Given the description of an element on the screen output the (x, y) to click on. 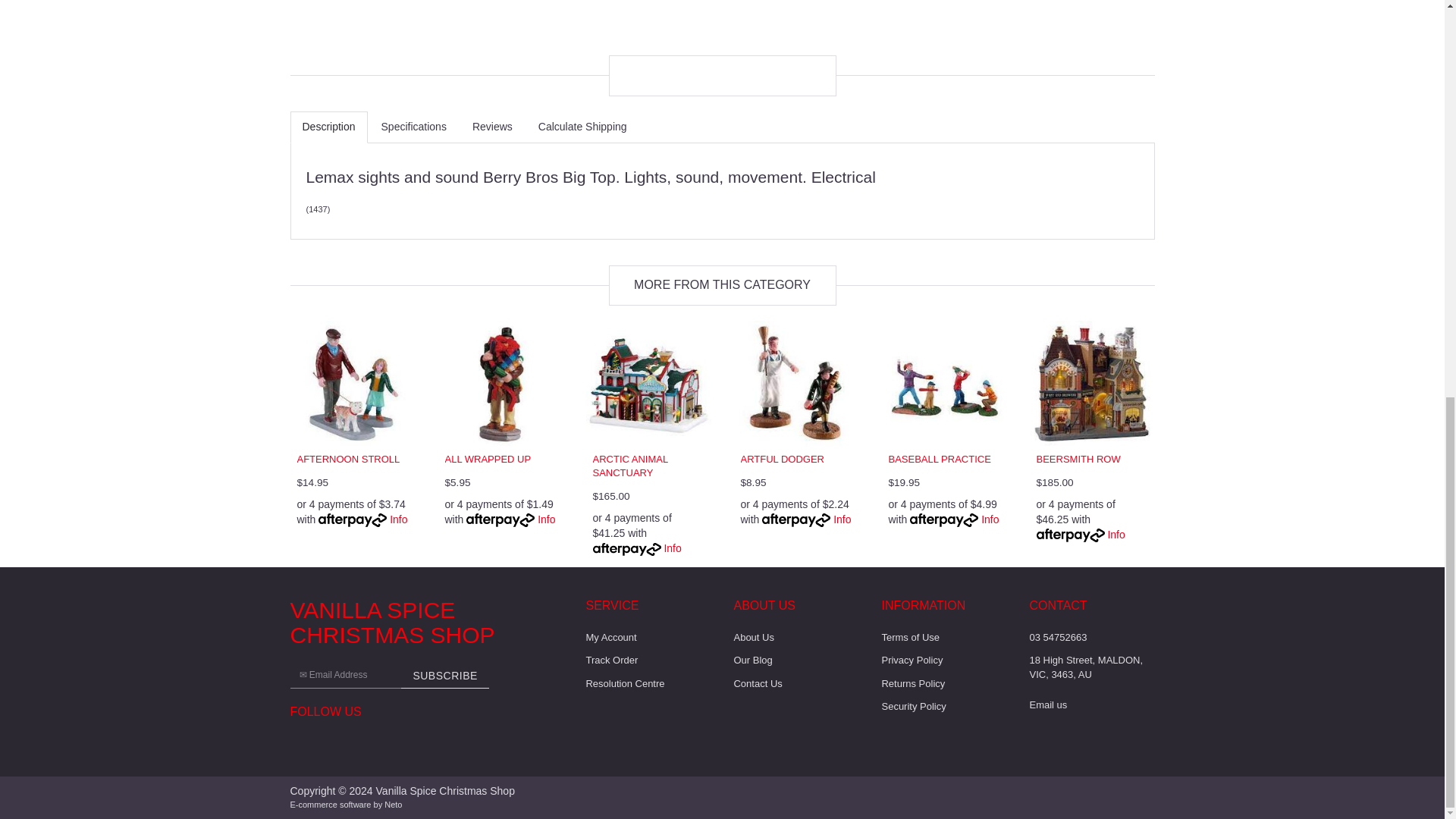
Baseball Practice (939, 459)
All Wrapped Up (487, 459)
Afternoon Stroll (348, 459)
Subscribe (444, 675)
Artful Dodger (781, 459)
Beersmith Row (1077, 459)
Arctic Animal Sanctuary (630, 465)
